Given the description of an element on the screen output the (x, y) to click on. 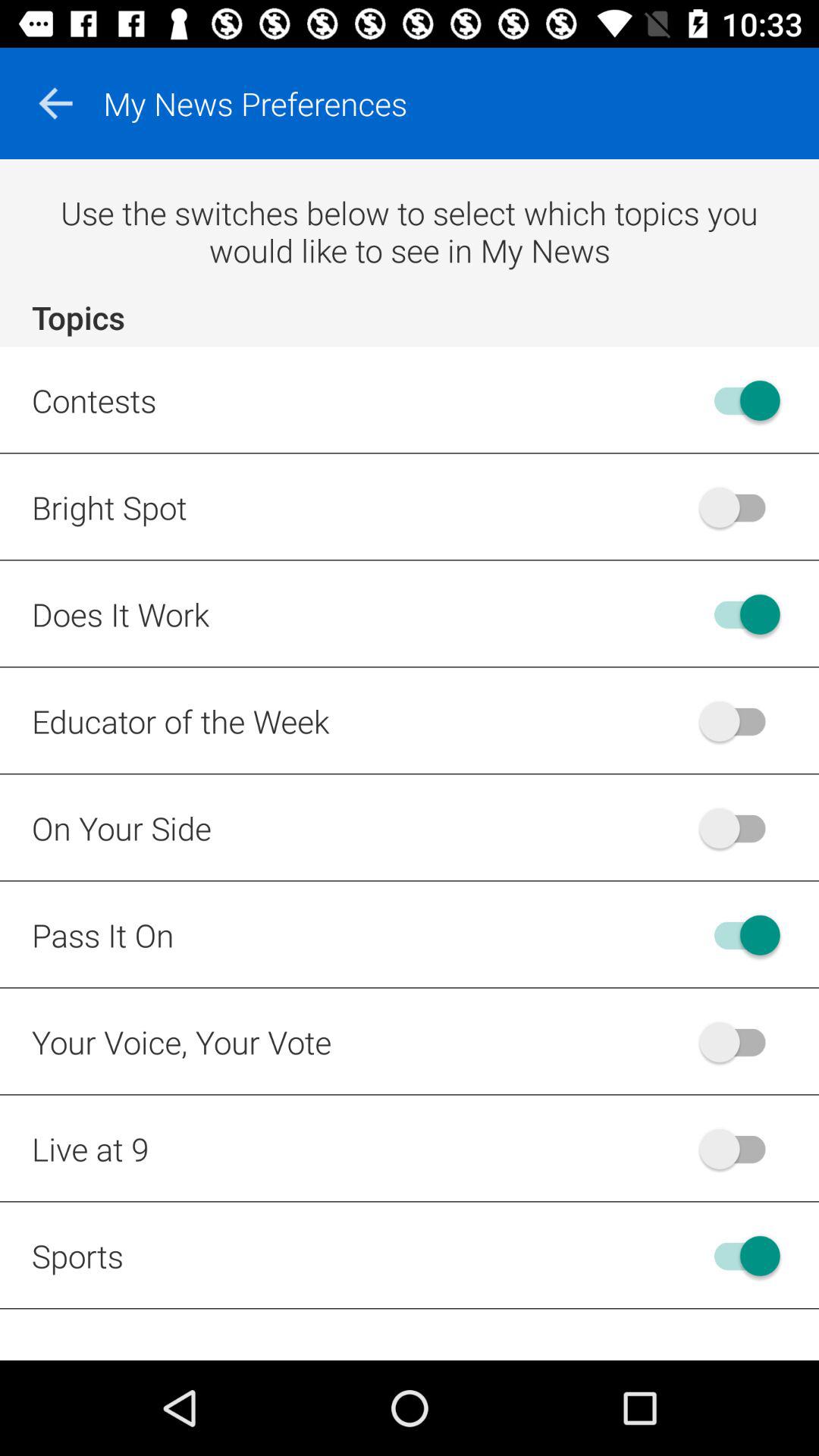
turn on item above use the switches item (55, 103)
